Given the description of an element on the screen output the (x, y) to click on. 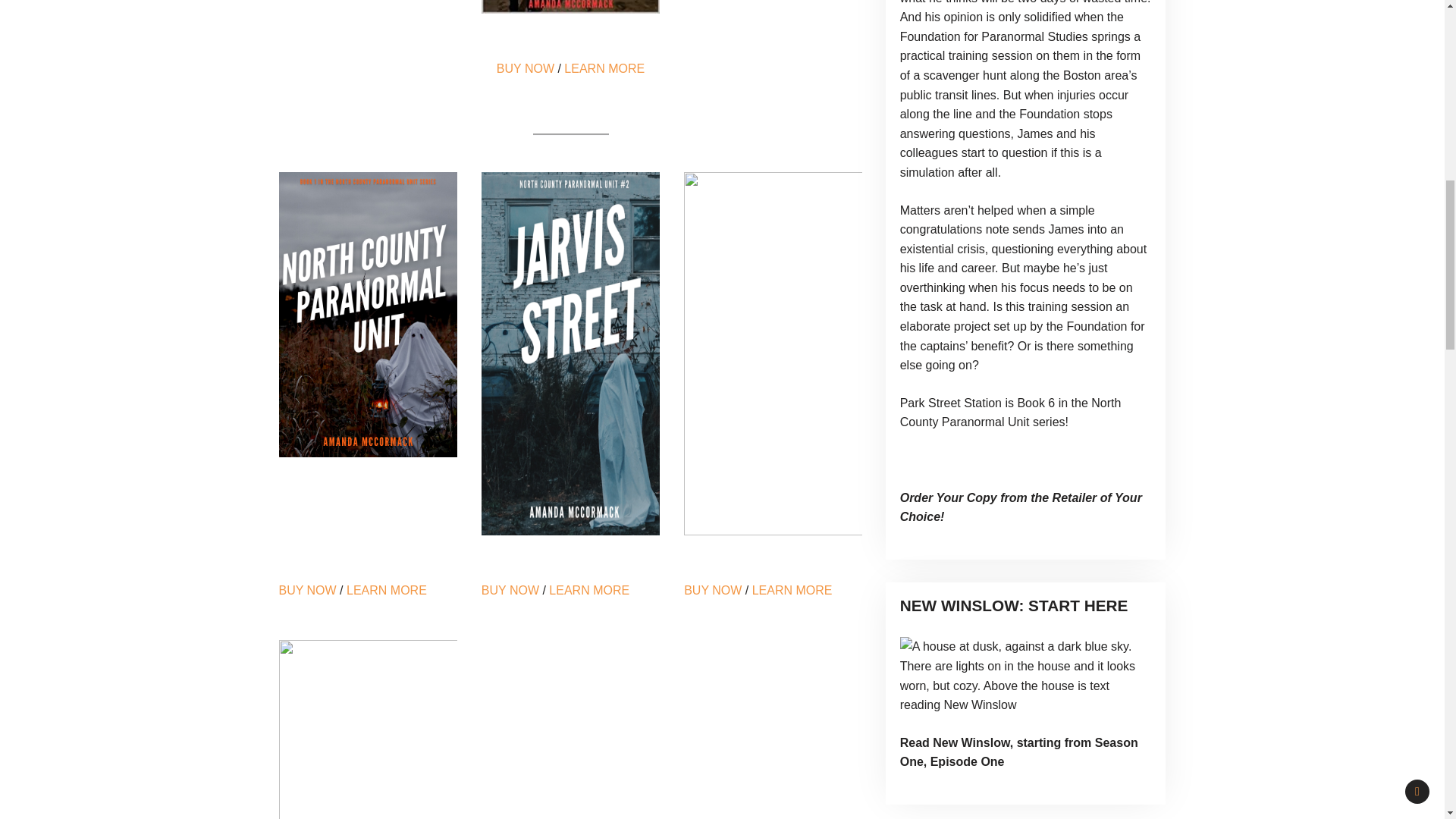
Read New Winslow, starting from Season One, Episode One (1018, 752)
Order Your Copy from the Retailer of Your Choice! (1020, 507)
BUY NOW (509, 590)
BUY NOW (712, 590)
BUY NOW (307, 590)
LEARN MORE (386, 590)
LEARN MORE (604, 68)
LEARN MORE (792, 590)
LEARN MORE (588, 590)
BUY NOW (525, 68)
